Given the description of an element on the screen output the (x, y) to click on. 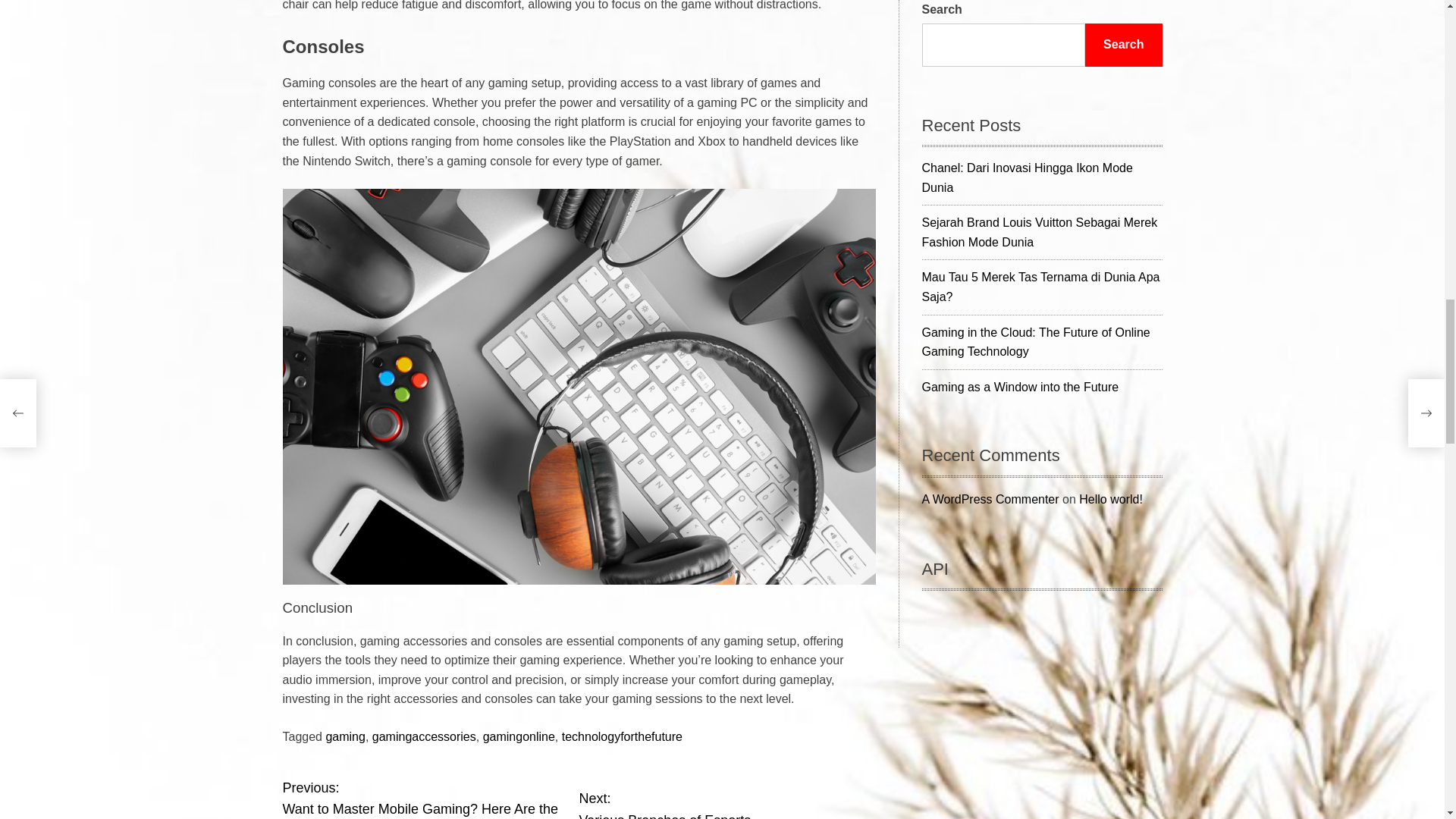
gamingaccessories (430, 798)
technologyforthefuture (424, 736)
gamingonline (622, 736)
gaming (518, 736)
